Given the description of an element on the screen output the (x, y) to click on. 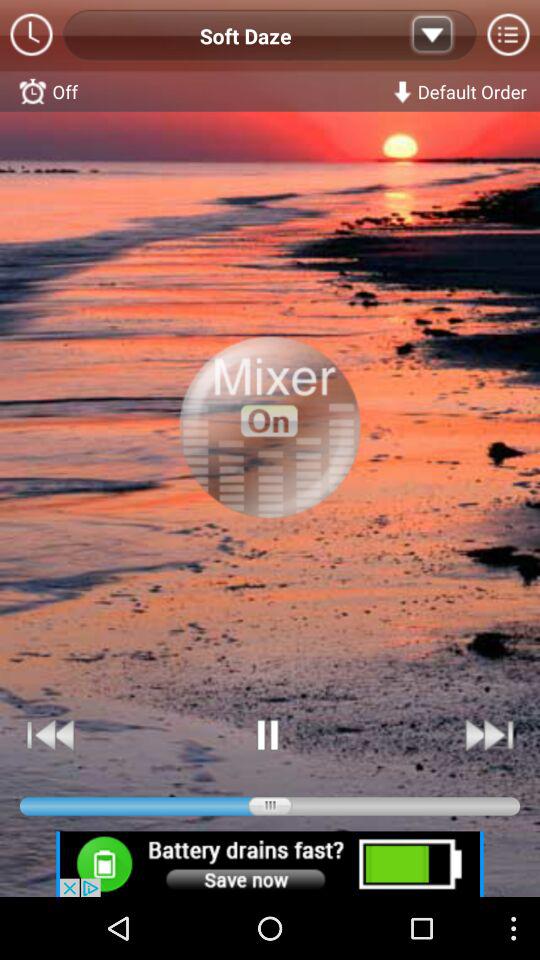
go to back (51, 734)
